Given the description of an element on the screen output the (x, y) to click on. 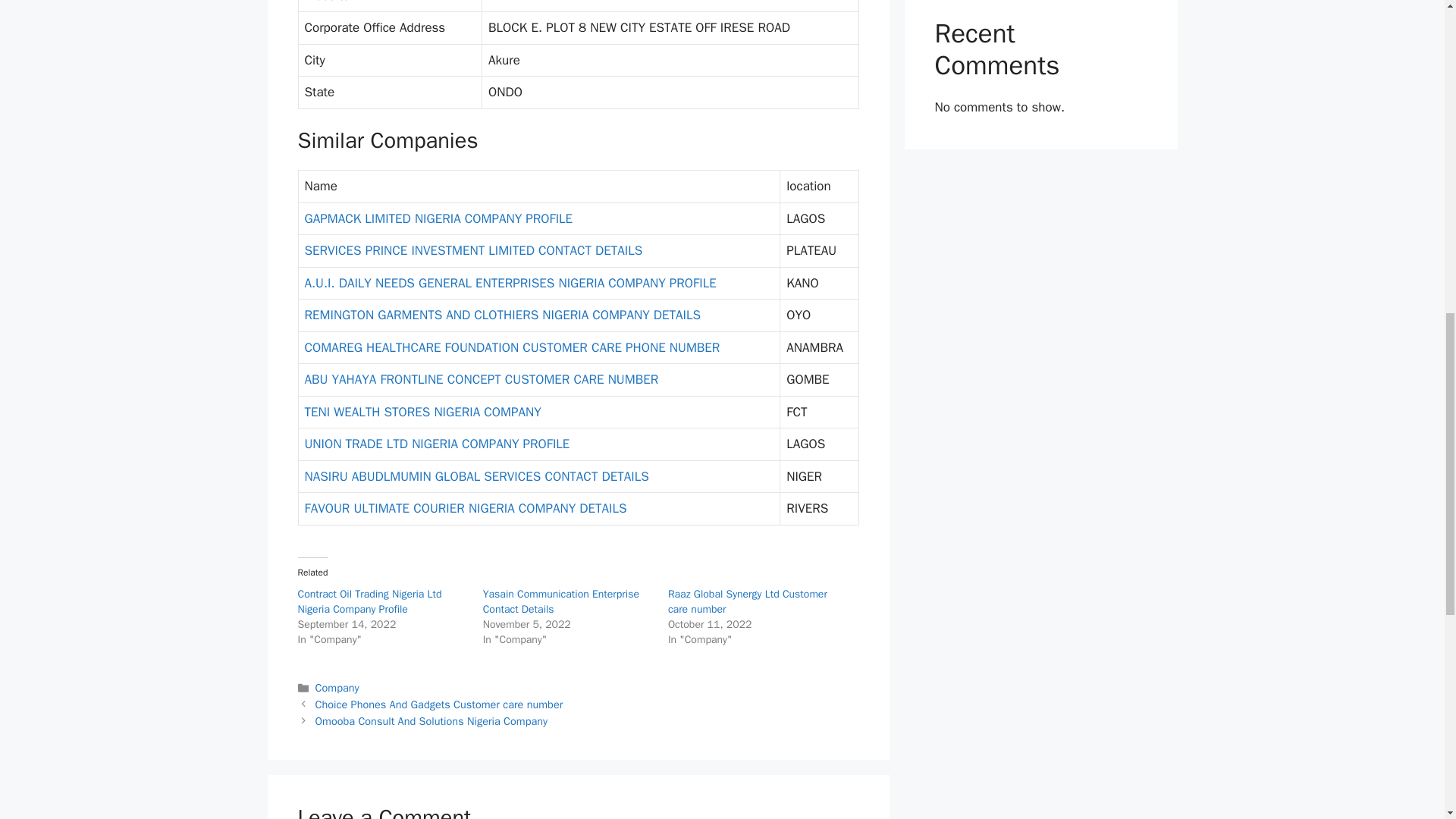
FAVOUR ULTIMATE COURIER NIGERIA COMPANY DETAILS (465, 508)
Previous (439, 704)
Contract Oil Trading Nigeria Ltd Nigeria Company Profile (369, 601)
ABU YAHAYA FRONTLINE CONCEPT CUSTOMER CARE NUMBER (481, 379)
UNION TRADE LTD NIGERIA COMPANY PROFILE (437, 443)
Next (431, 721)
REMINGTON GARMENTS AND CLOTHIERS NIGERIA COMPANY DETAILS (502, 314)
SERVICES PRINCE INVESTMENT LIMITED CONTACT DETAILS (473, 250)
Yasain Communication Enterprise Contact Details (561, 601)
Choice Phones And Gadgets Customer care number (439, 704)
Raaz Global Synergy Ltd Customer care number (747, 601)
Contract Oil Trading Nigeria Ltd Nigeria Company Profile (369, 601)
NASIRU ABUDLMUMIN GLOBAL SERVICES CONTACT DETAILS (476, 476)
Omooba Consult And Solutions Nigeria Company (431, 721)
